Given the description of an element on the screen output the (x, y) to click on. 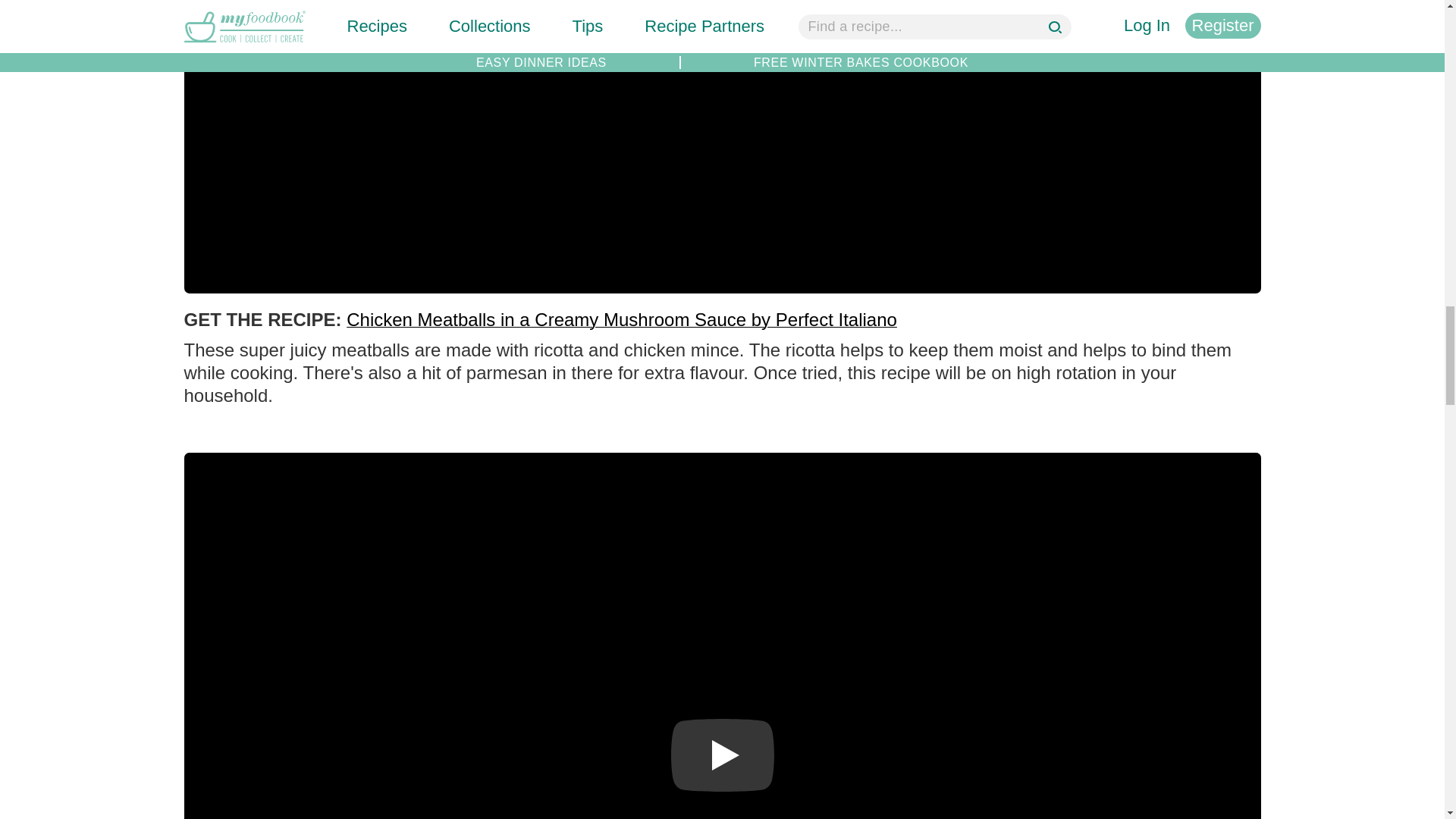
Play: Chicken Meatballs in a Creamy Mushroom Sauce (721, 13)
Play: One-pan Meatball Parmigiana (721, 755)
Play Video: Chicken Meatballs in a Creamy Mushroom Sauce (721, 13)
Play Video: One-pan Meatball Parmigiana (721, 755)
